Given the description of an element on the screen output the (x, y) to click on. 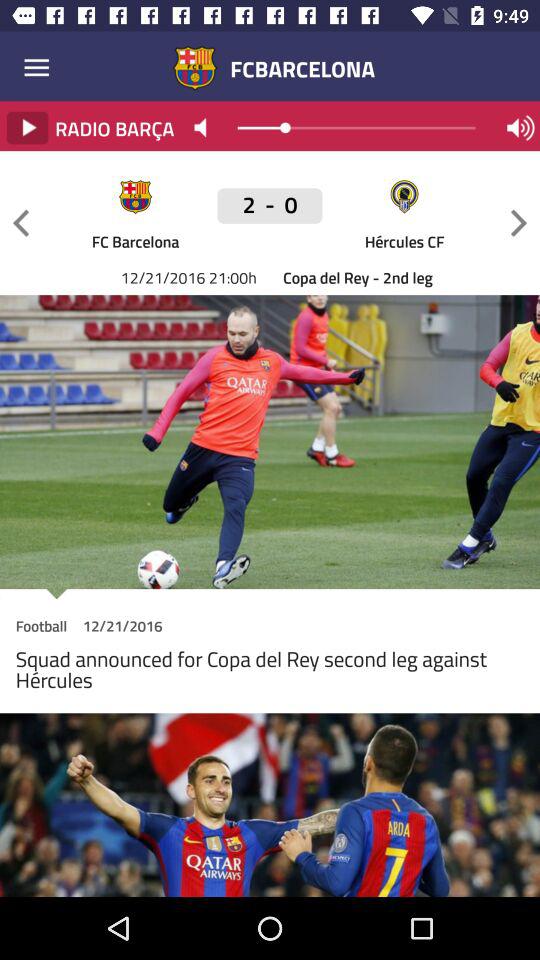
press 2  -  0 (270, 205)
